Given the description of an element on the screen output the (x, y) to click on. 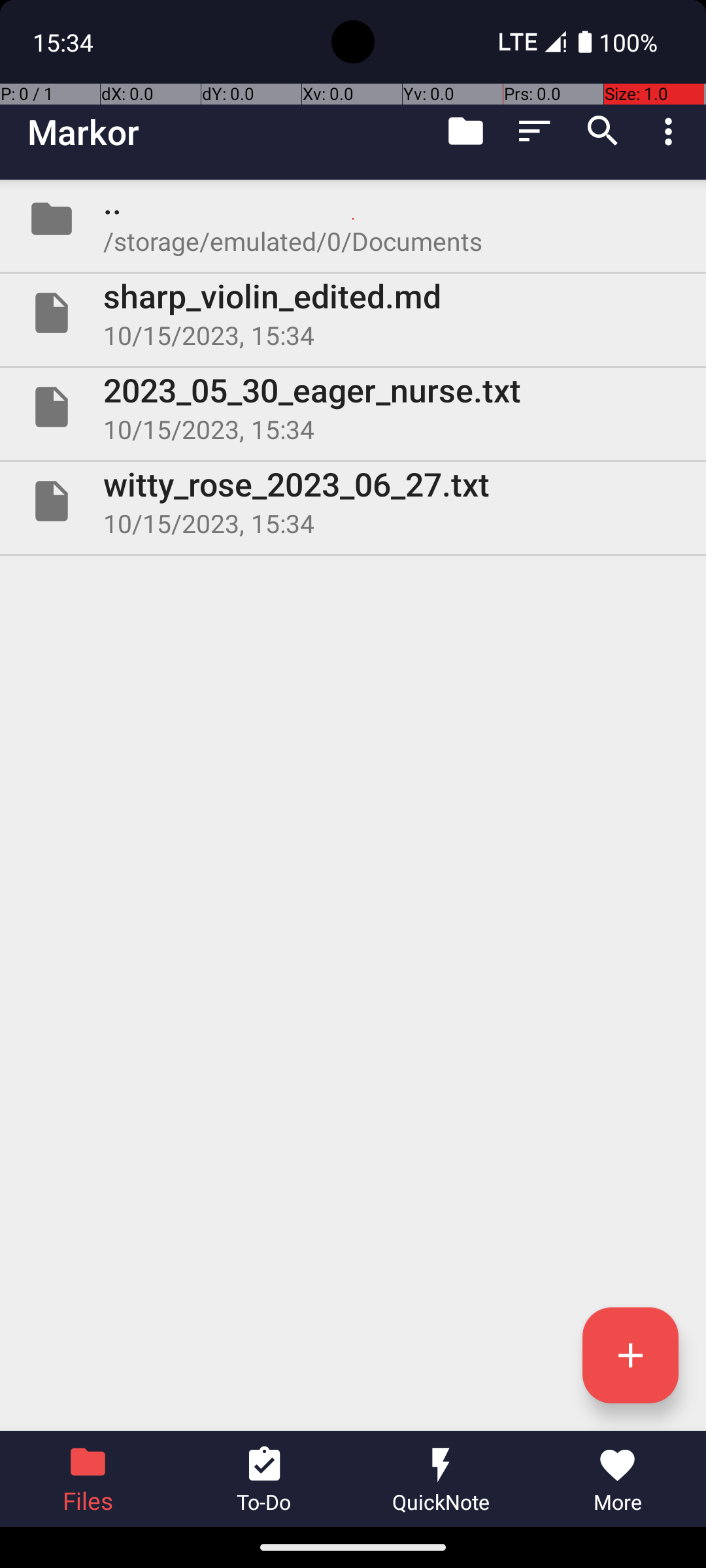
File sharp_violin_edited.md  Element type: android.widget.LinearLayout (353, 312)
File 2023_05_30_eager_nurse.txt  Element type: android.widget.LinearLayout (353, 406)
File witty_rose_2023_06_27.txt  Element type: android.widget.LinearLayout (353, 500)
